Given the description of an element on the screen output the (x, y) to click on. 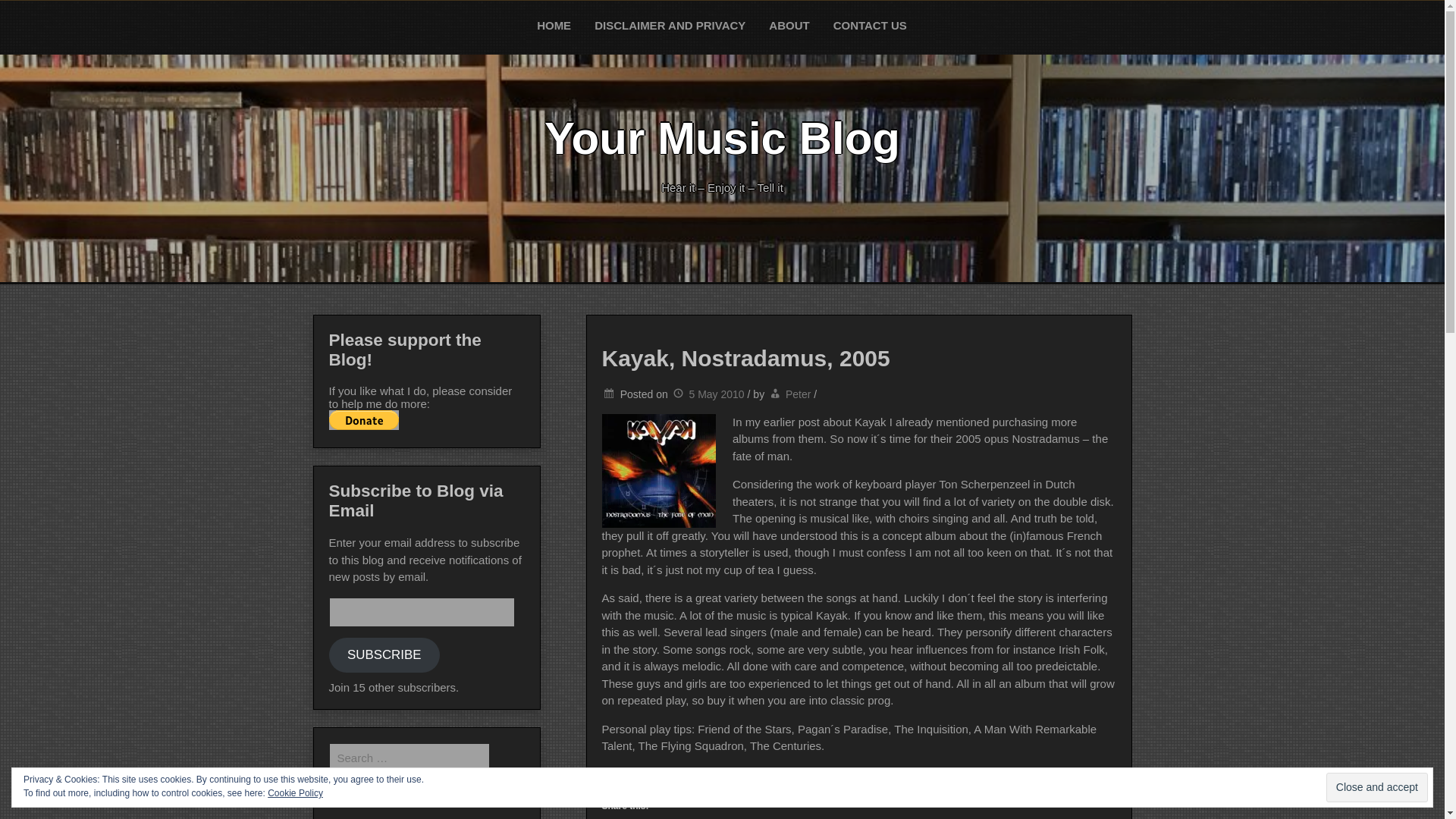
Search (28, 14)
Website (622, 774)
Peter (798, 394)
5 May 2010 (707, 394)
SUBSCRIBE (384, 655)
kayak - nostradamus (659, 470)
HOME (554, 25)
CONTACT US (870, 25)
Your Music Blog (721, 138)
Close and accept (1377, 787)
DISCLAIMER AND PRIVACY (670, 25)
ABOUT (789, 25)
